Given the description of an element on the screen output the (x, y) to click on. 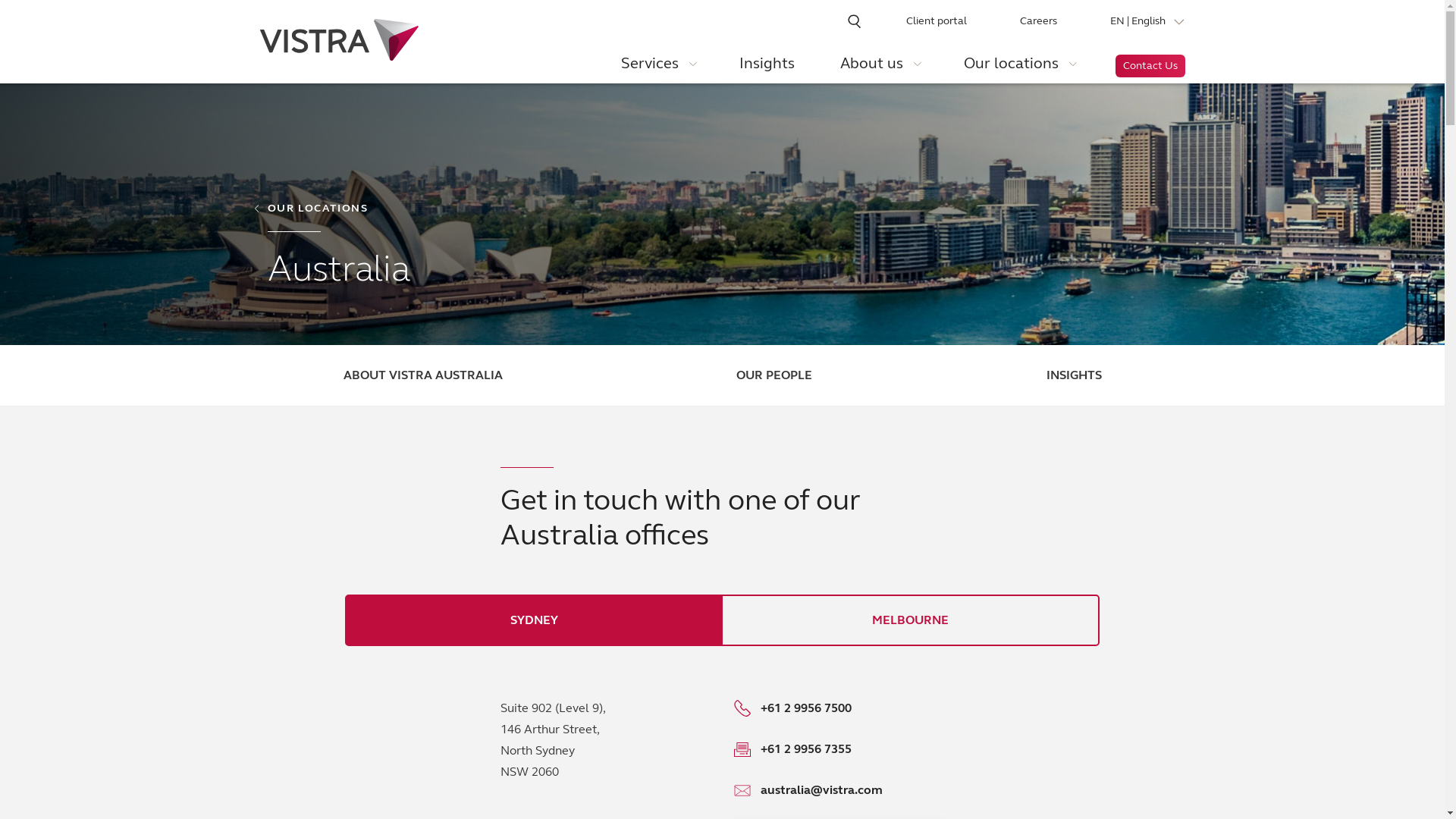
MELBOURNE Element type: text (910, 620)
SYDNEY Element type: text (533, 620)
OUR PEOPLE Element type: text (774, 375)
About us Element type: text (878, 68)
EN | English Element type: text (1147, 21)
+61 2 9956 7500 Element type: text (804, 708)
ABOUT VISTRA AUSTRALIA Element type: text (422, 375)
Careers Element type: text (1037, 21)
Insights Element type: text (766, 68)
OUR LOCATIONS Element type: text (311, 208)
Services Element type: text (657, 68)
Our locations Element type: text (1018, 68)
Client portal Element type: text (935, 21)
australia@vistra.com Element type: text (839, 790)
Contact Us Element type: text (1149, 65)
INSIGHTS Element type: text (1073, 375)
